Given the description of an element on the screen output the (x, y) to click on. 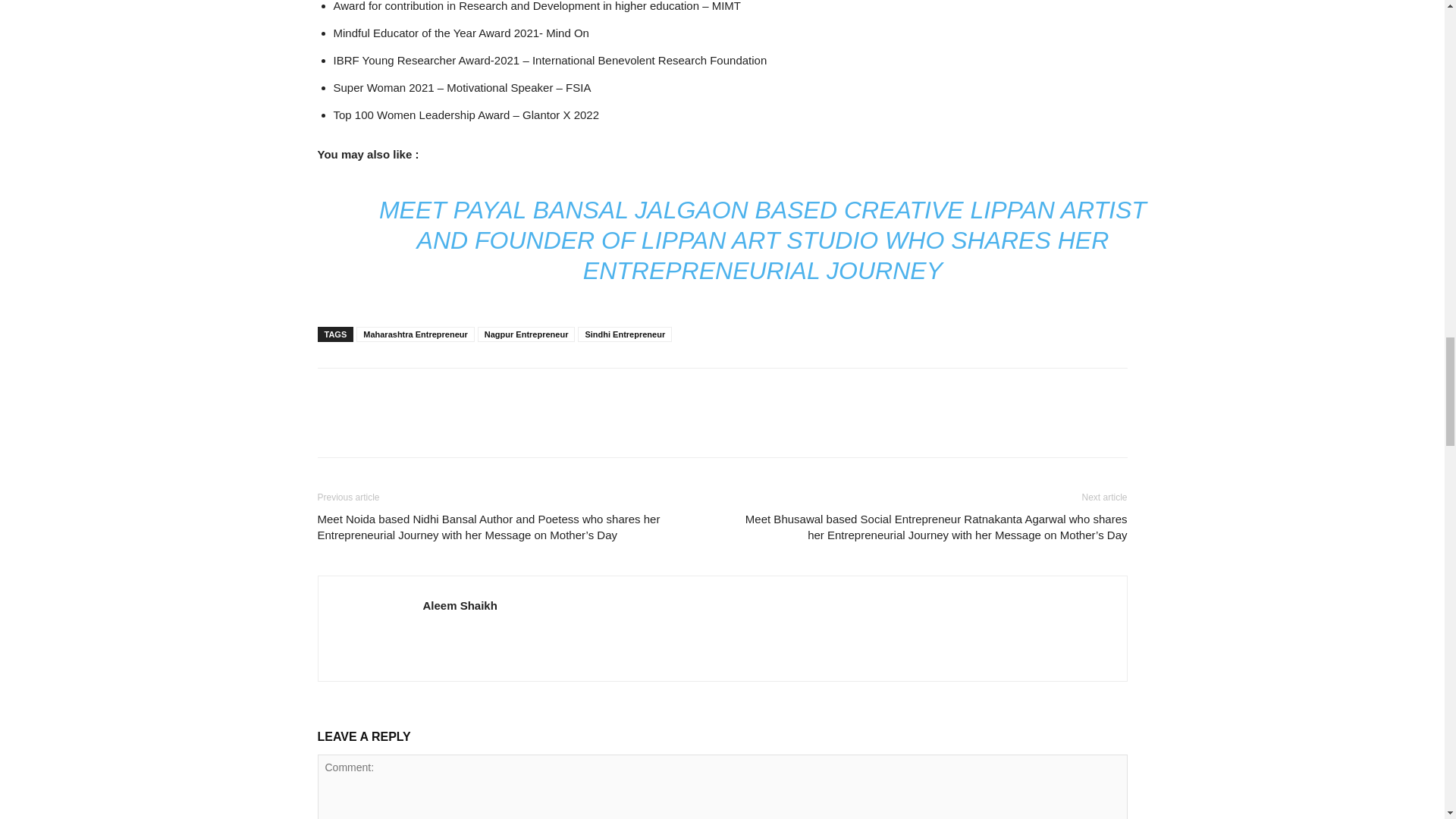
bottomFacebookLike (430, 392)
